Given the description of an element on the screen output the (x, y) to click on. 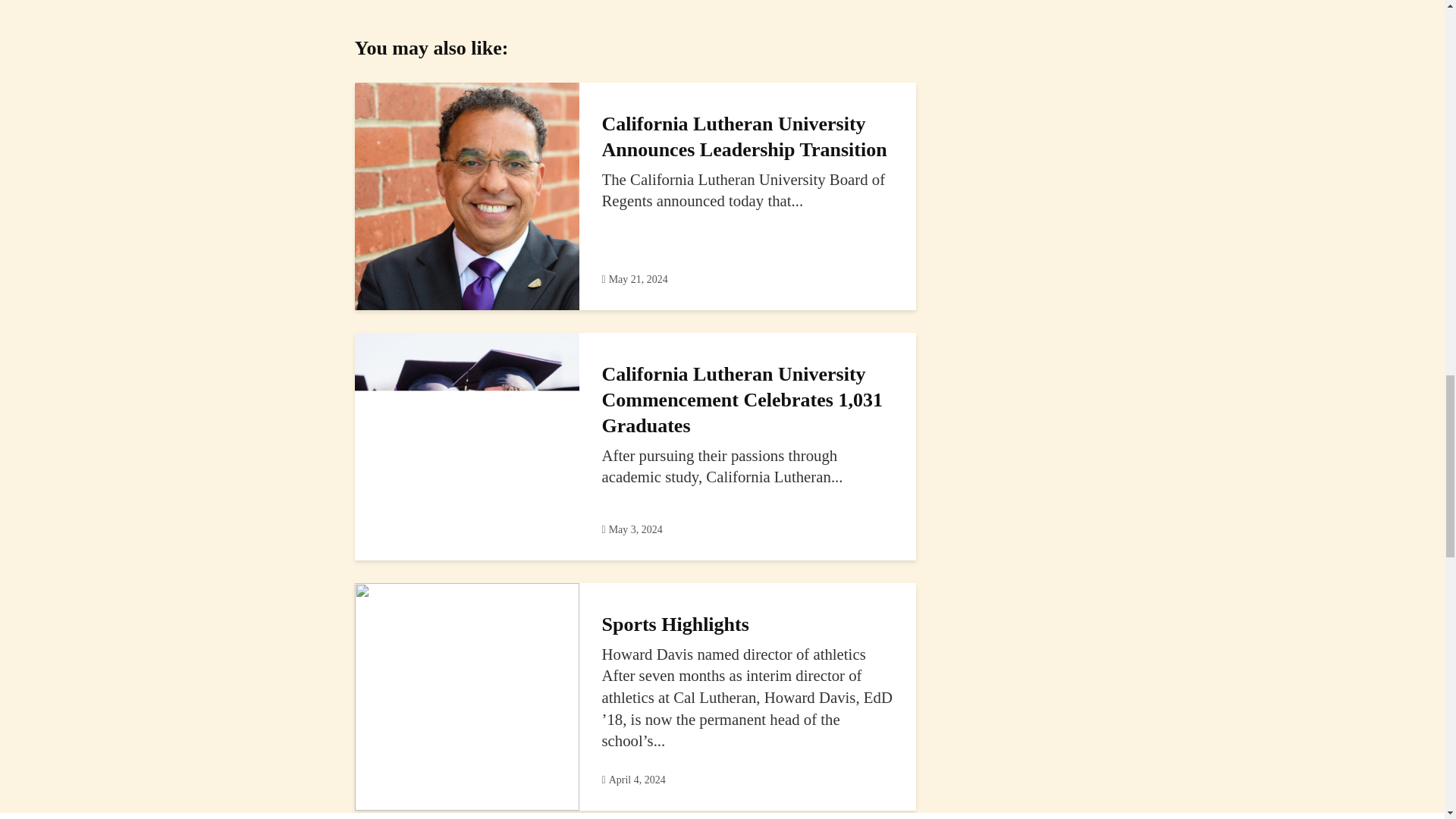
Sports Highlights (467, 694)
